Given the description of an element on the screen output the (x, y) to click on. 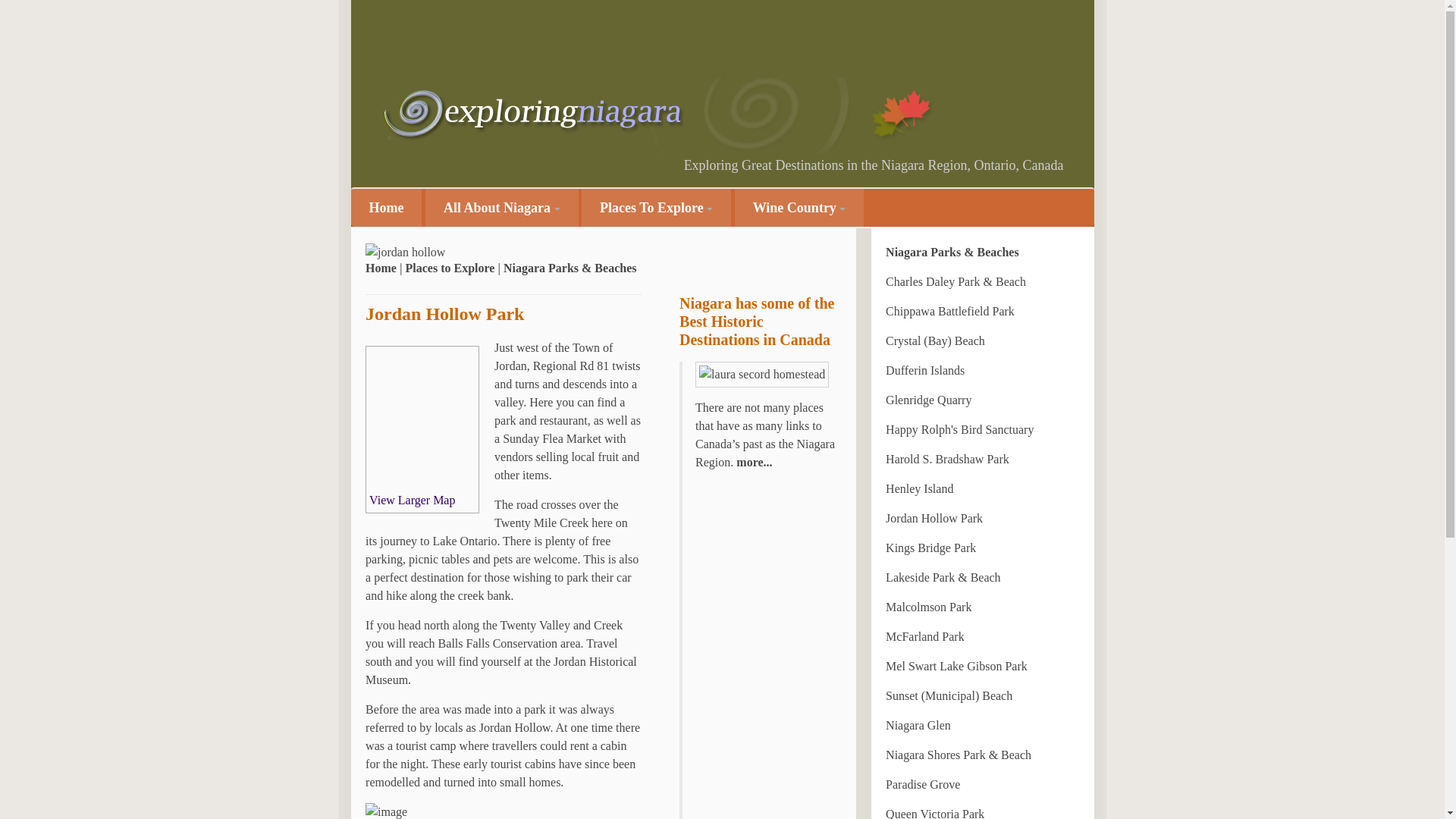
Henley Island (919, 488)
Home (386, 207)
Paradise Grove (922, 784)
View Larger Map (411, 499)
Malcolmson Park (928, 606)
Places To Explore (655, 207)
McFarland Park (924, 635)
Niagara Glen (917, 725)
Chippawa Battlefield Park (949, 310)
more... (752, 461)
